Given the description of an element on the screen output the (x, y) to click on. 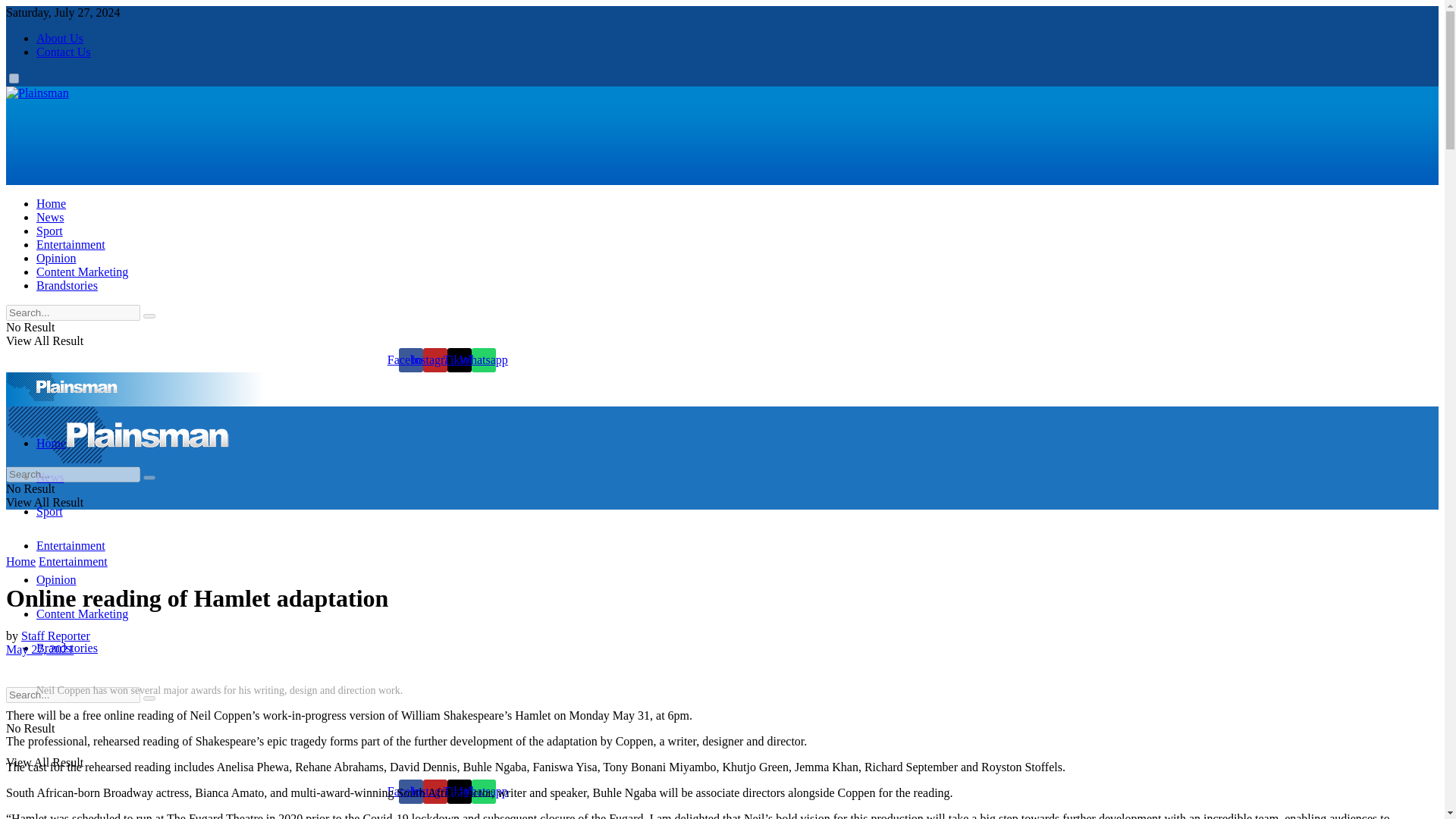
Sport (49, 511)
May 27, 2021 (39, 649)
Entertainment (73, 561)
Brandstories (66, 647)
Sport (49, 230)
Facebook (410, 791)
Brandstories (66, 285)
Content Marketing (82, 613)
on (13, 78)
News (50, 477)
Tiktok (458, 360)
Staff Reporter (55, 635)
Entertainment (70, 244)
Home (50, 203)
Instagram (434, 360)
